Given the description of an element on the screen output the (x, y) to click on. 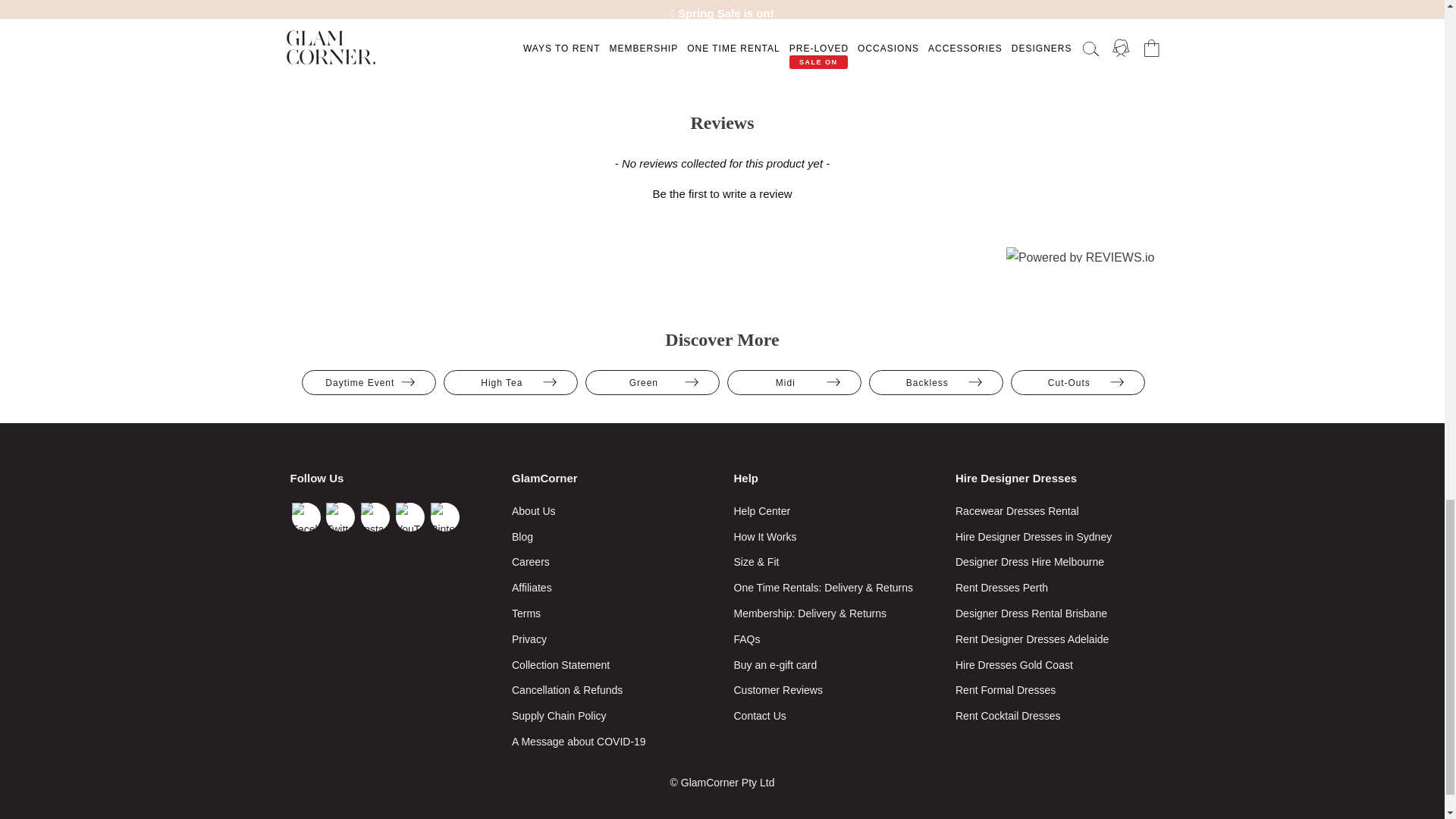
Youtube (410, 516)
Instagram (375, 516)
Twitter (340, 516)
Pinterest (445, 516)
Facebook (305, 516)
